Given the description of an element on the screen output the (x, y) to click on. 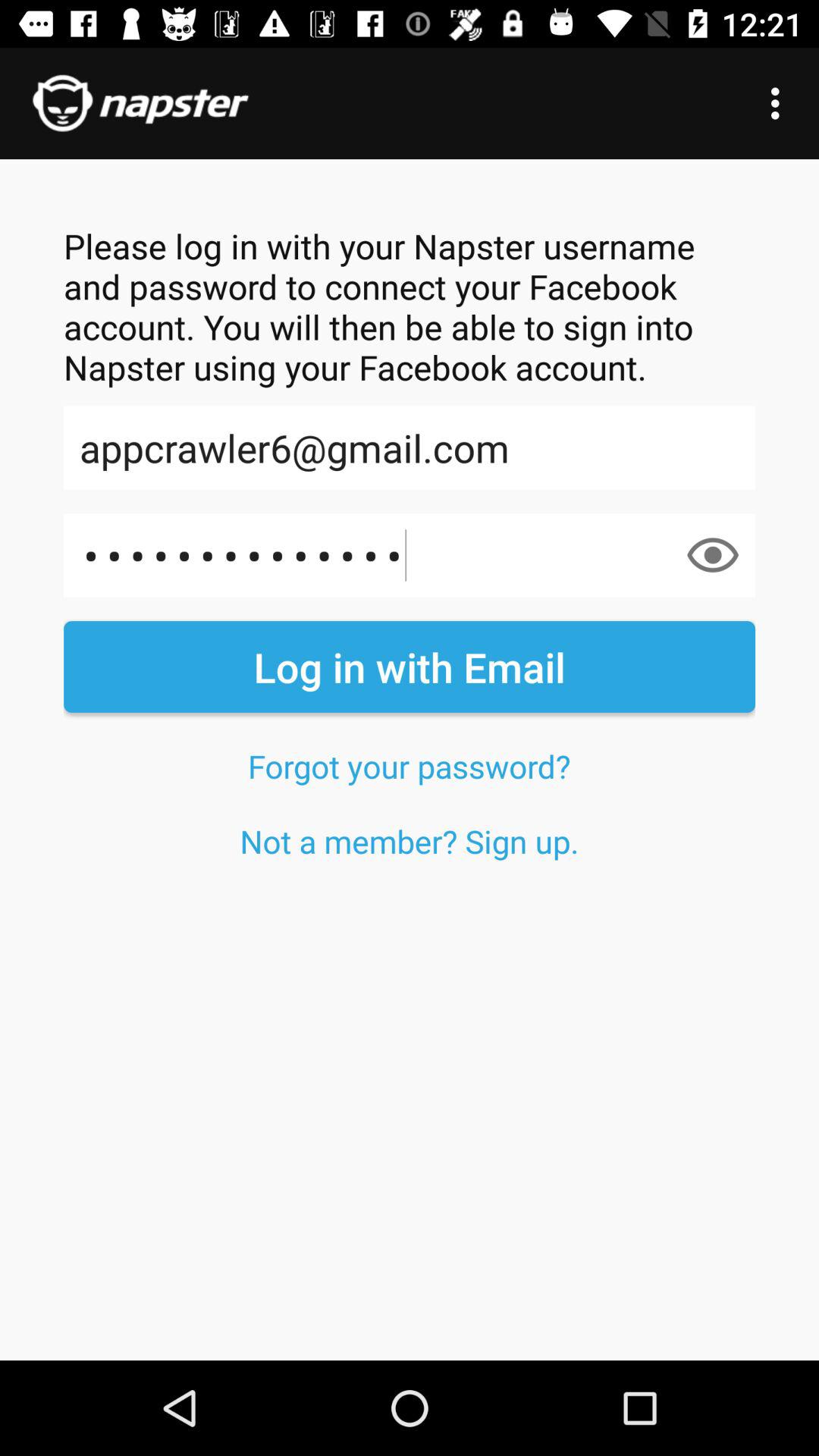
press not a member item (409, 840)
